Given the description of an element on the screen output the (x, y) to click on. 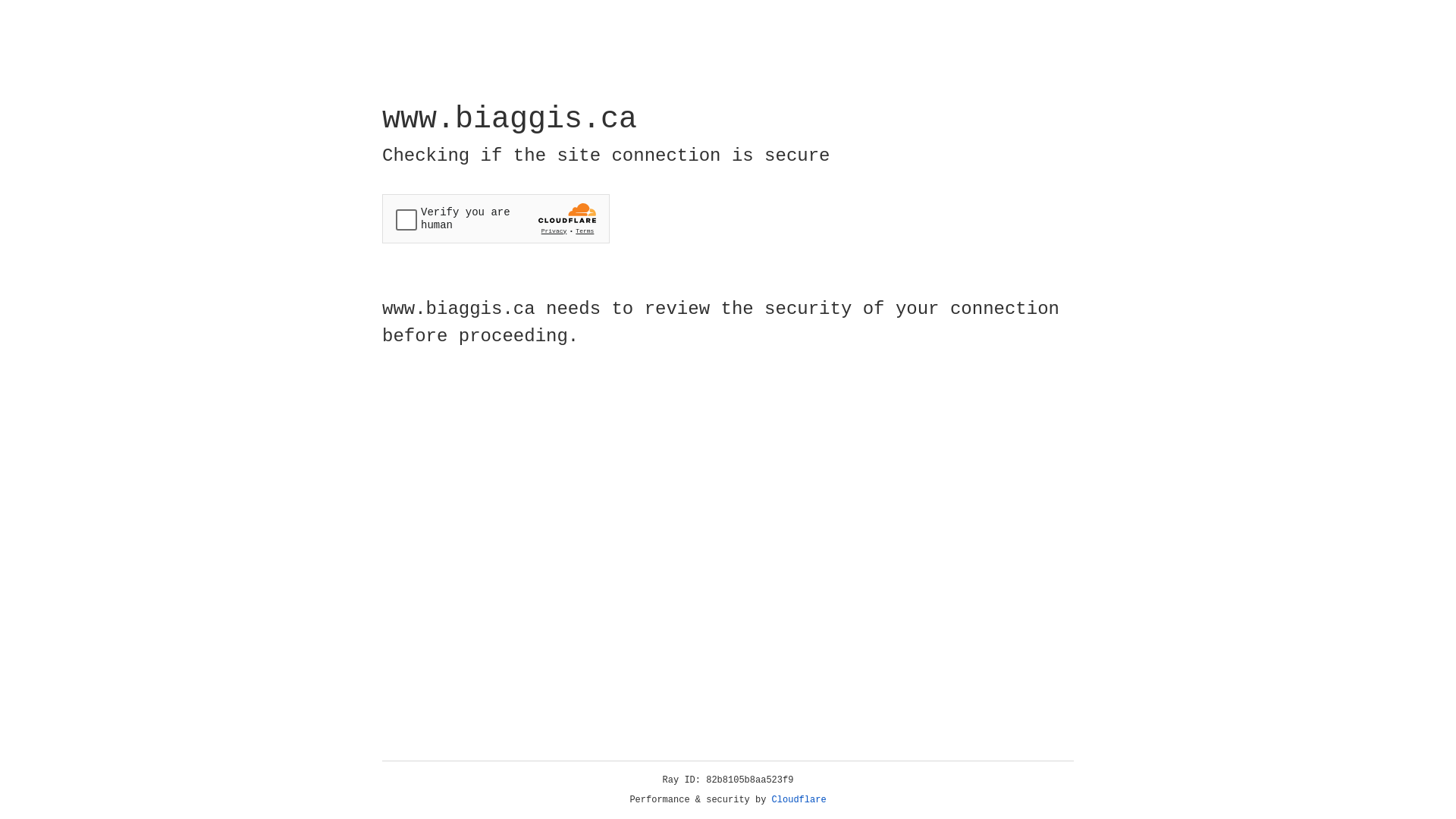
Cloudflare Element type: text (798, 799)
Widget containing a Cloudflare security challenge Element type: hover (495, 218)
